Given the description of an element on the screen output the (x, y) to click on. 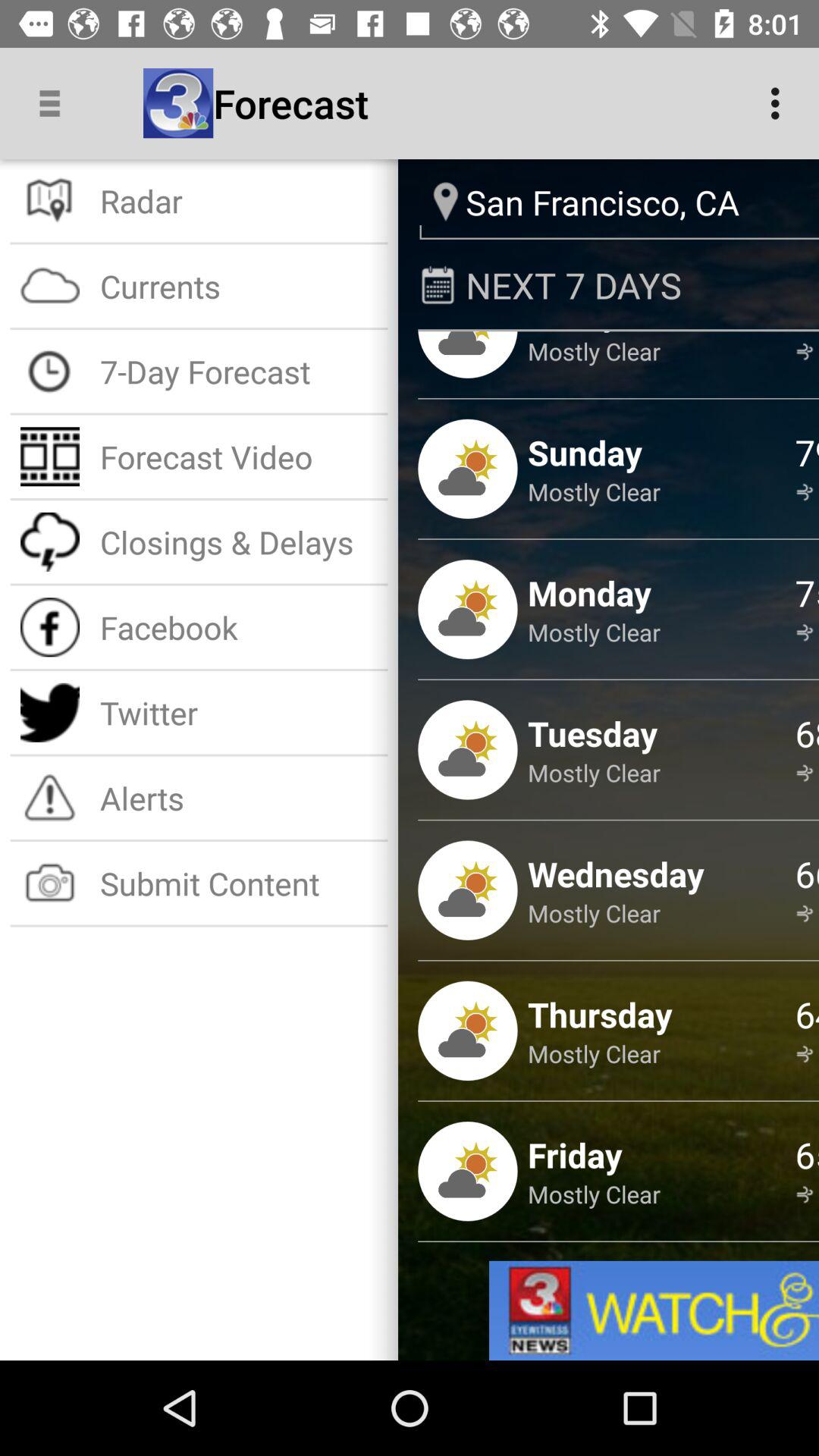
choose the facebook item (238, 626)
